Given the description of an element on the screen output the (x, y) to click on. 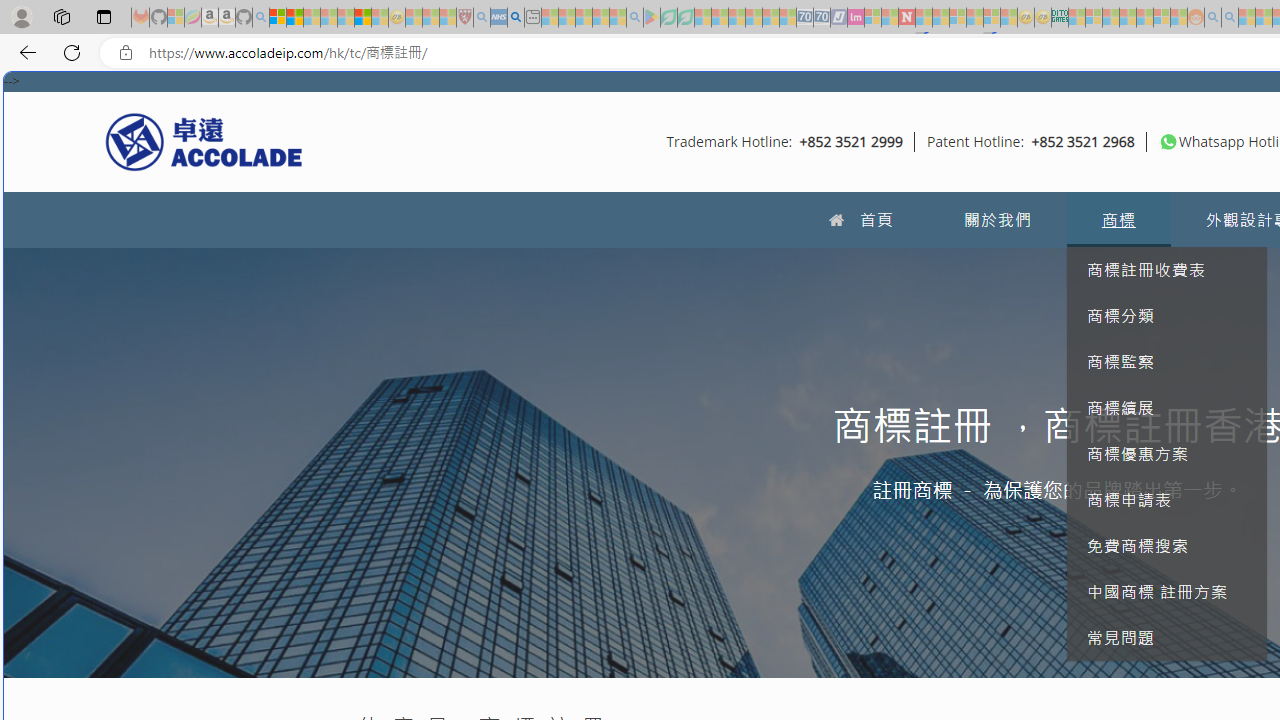
Bluey: Let's Play! - Apps on Google Play - Sleeping (651, 17)
Recipes - MSN - Sleeping (413, 17)
Accolade IP HK Logo (203, 141)
Cheap Hotels - Save70.com - Sleeping (821, 17)
Local - MSN - Sleeping (447, 17)
